Given the description of an element on the screen output the (x, y) to click on. 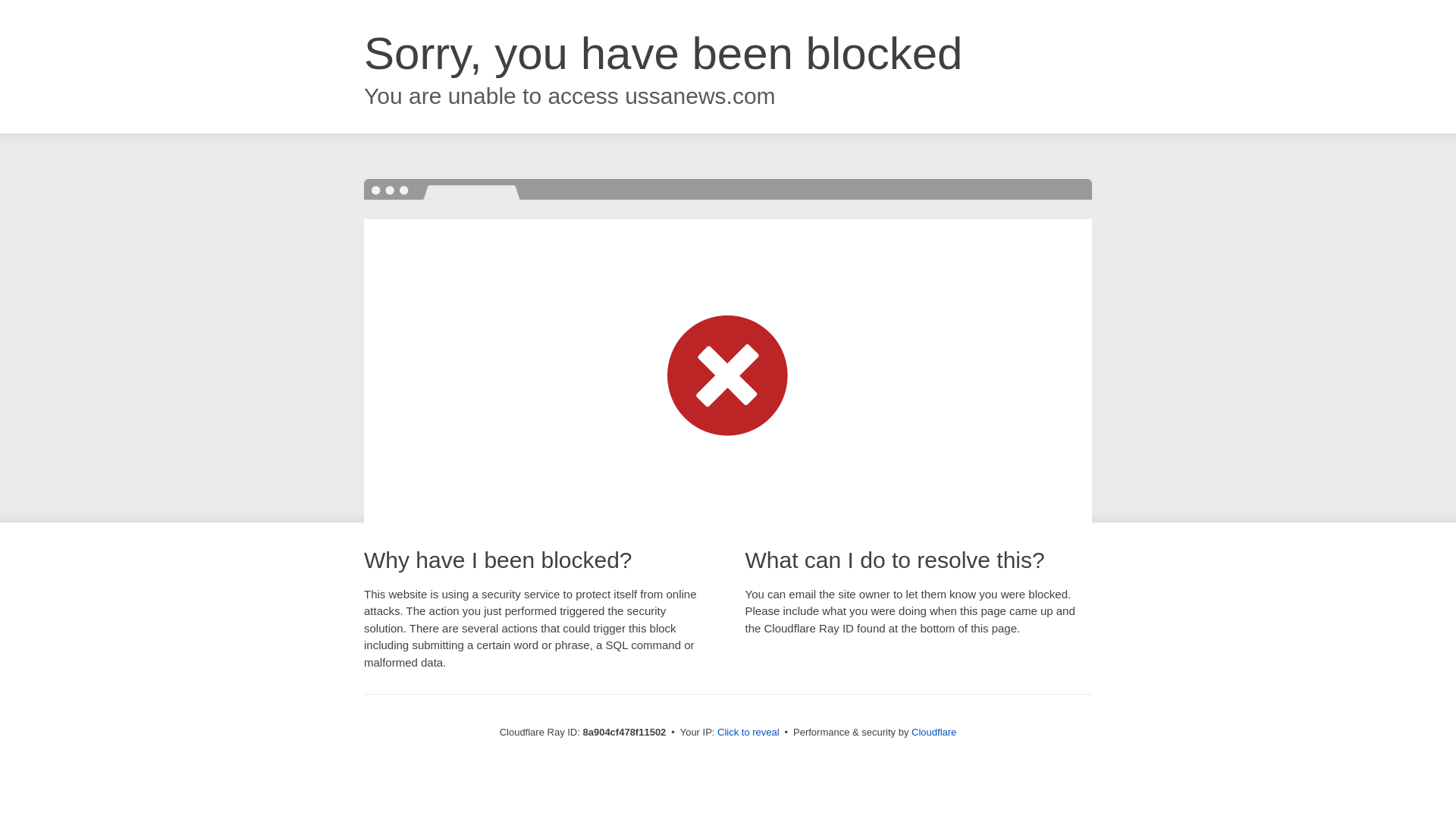
Cloudflare (933, 731)
Click to reveal (747, 732)
